Given the description of an element on the screen output the (x, y) to click on. 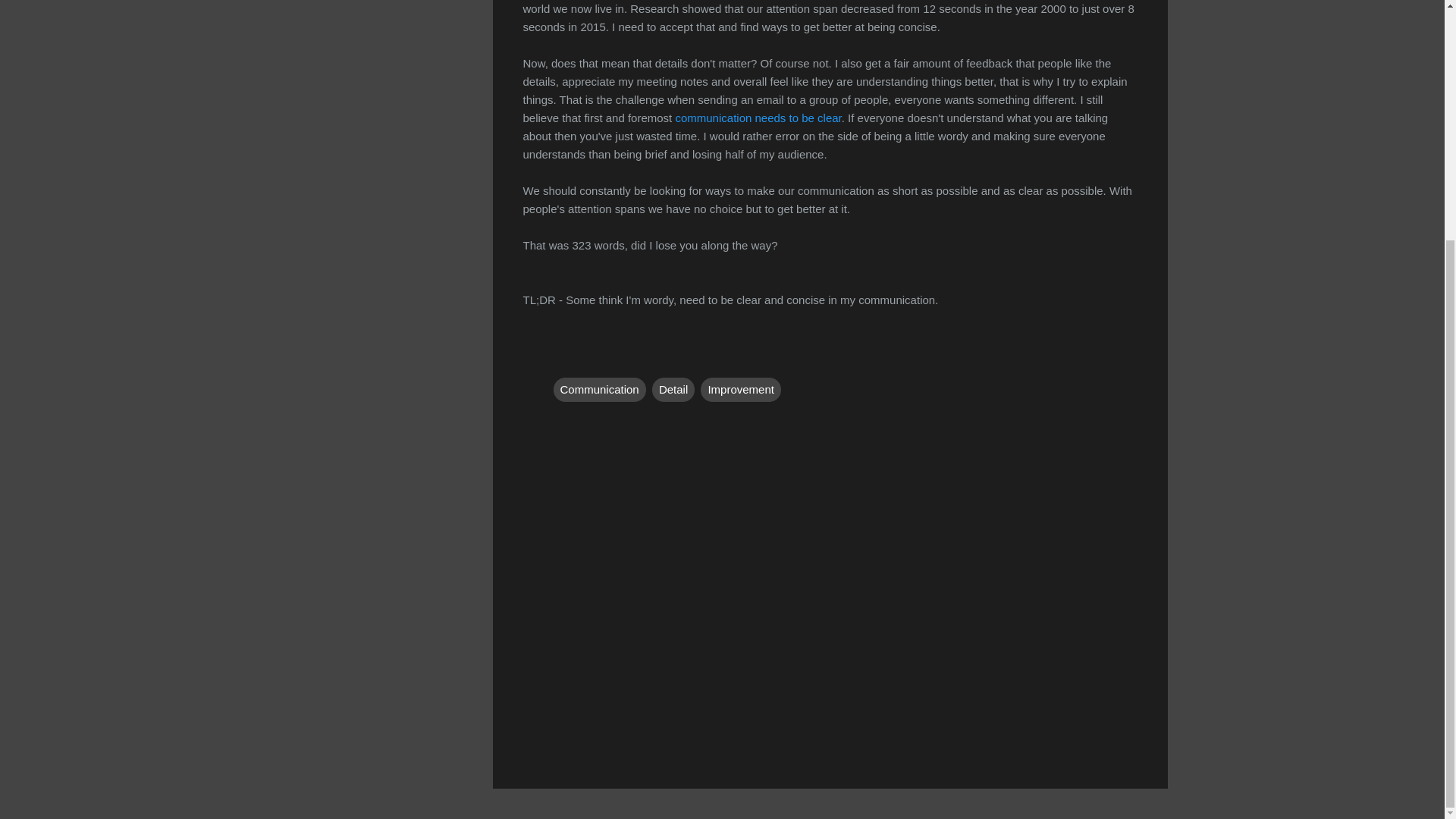
Detail (673, 388)
Improvement (740, 388)
Communication (599, 388)
communication needs to be clear (758, 117)
